Given the description of an element on the screen output the (x, y) to click on. 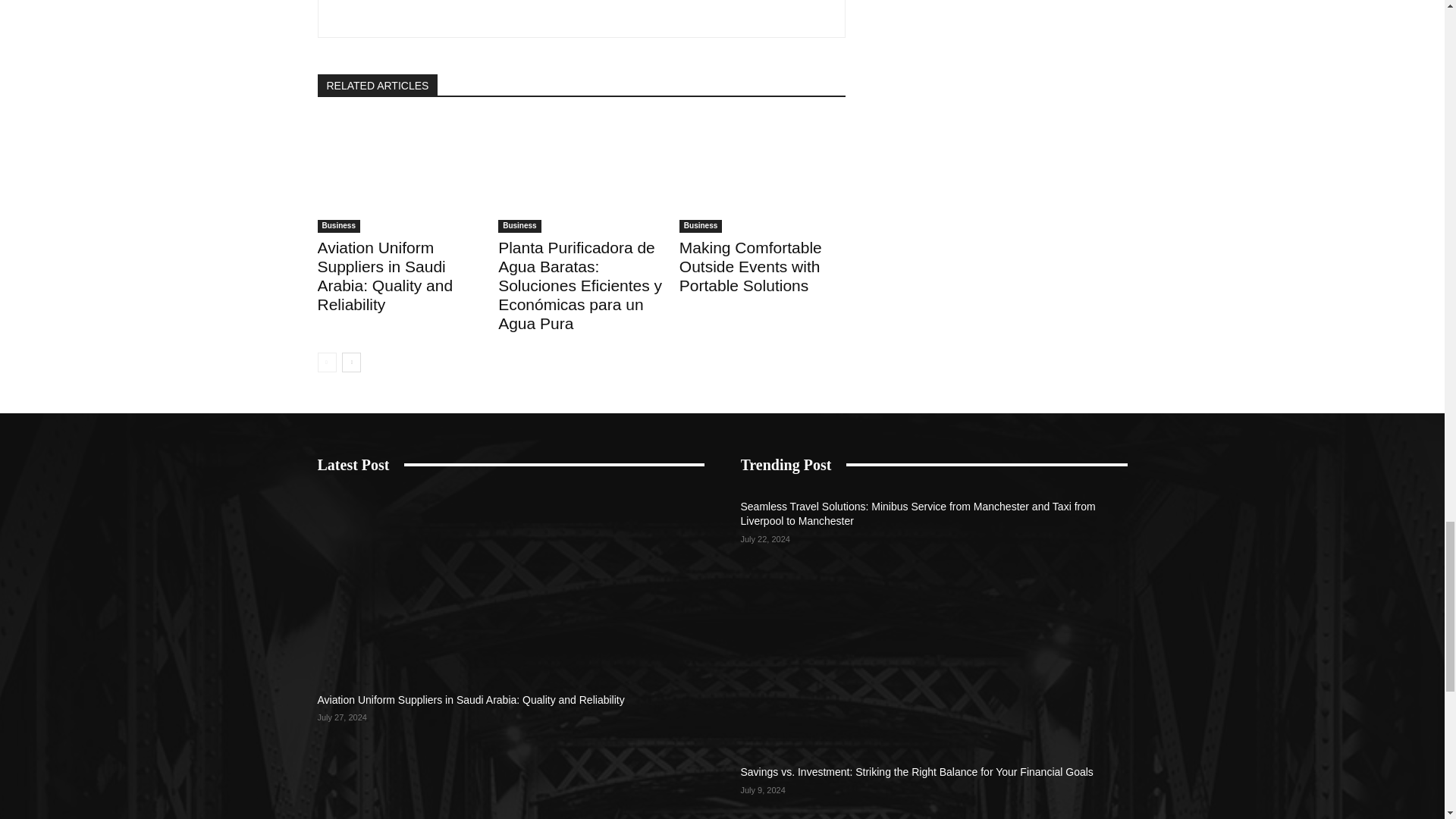
Cecilia (377, 10)
Business (338, 226)
Making Comfortable Outside Events with Portable Solutions (750, 266)
Making Comfortable Outside Events with Portable Solutions (762, 174)
